Given the description of an element on the screen output the (x, y) to click on. 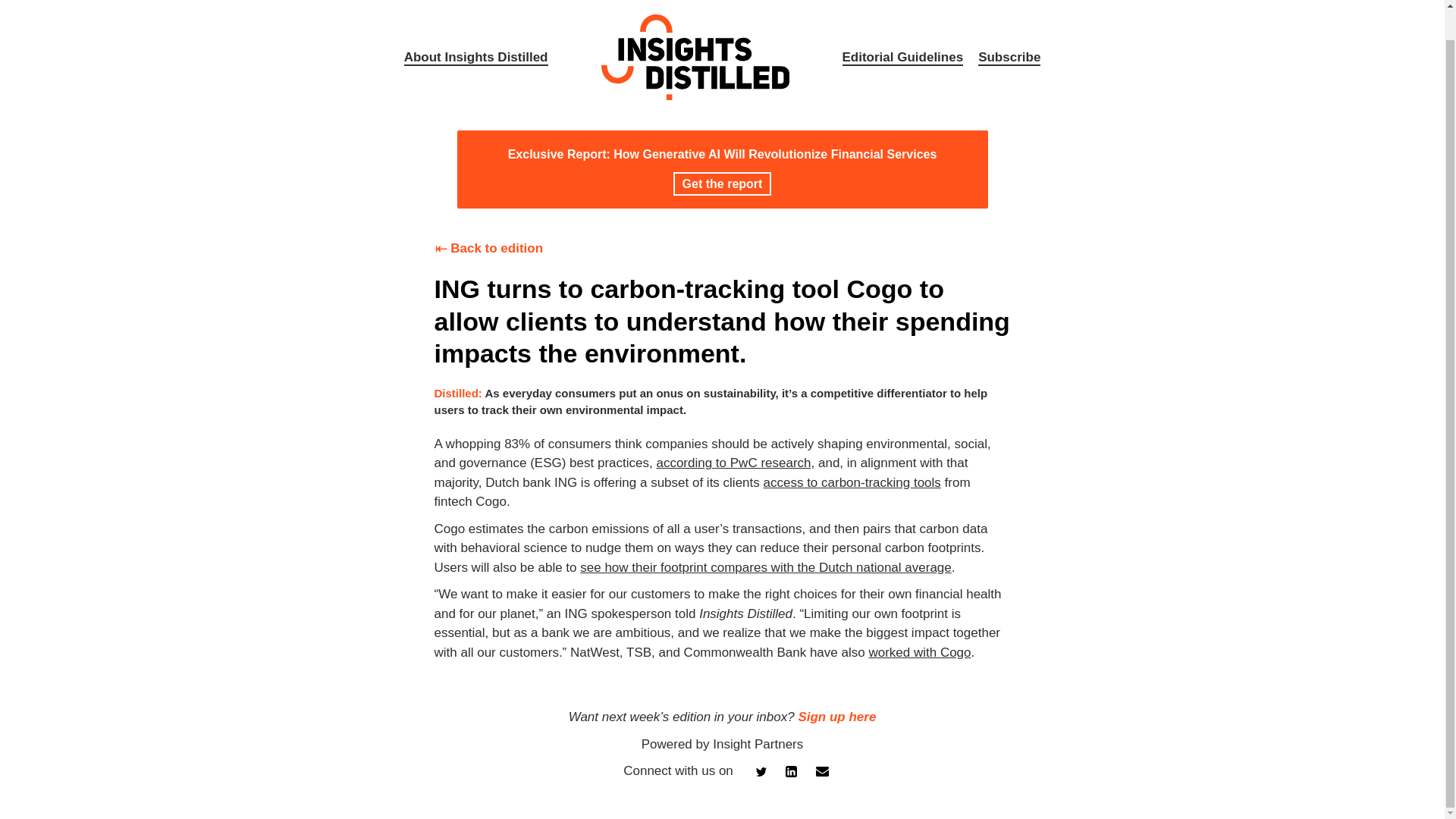
according to PwC research, (734, 462)
About Insights Distilled (476, 57)
Get the report (721, 183)
worked with Cogo (919, 652)
Editorial Guidelines (901, 57)
Subscribe (1009, 57)
access to carbon-tracking tools (851, 482)
Sign up here (836, 716)
